Given the description of an element on the screen output the (x, y) to click on. 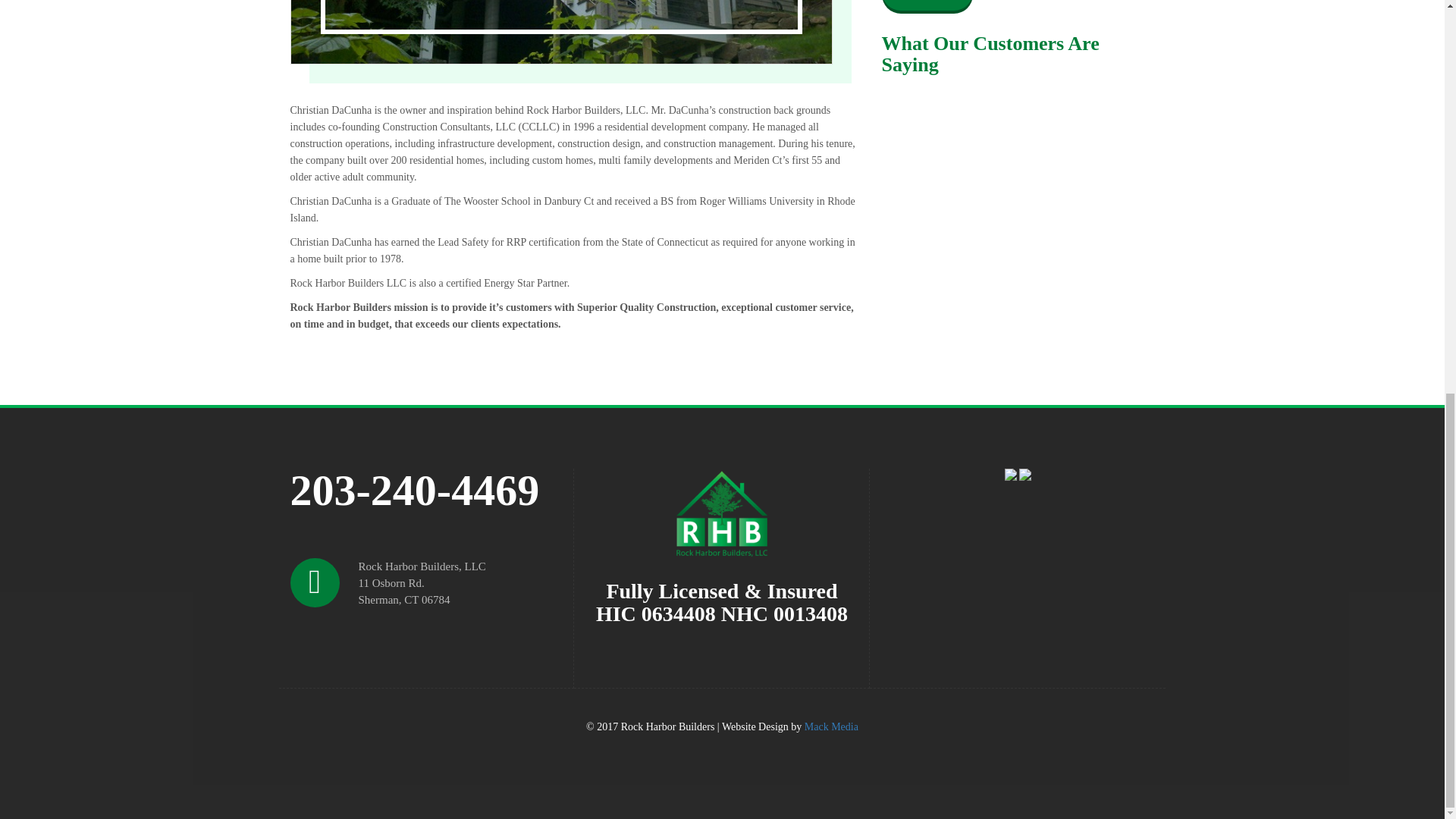
Mack Media (832, 726)
Send (926, 5)
Send (926, 5)
